Given the description of an element on the screen output the (x, y) to click on. 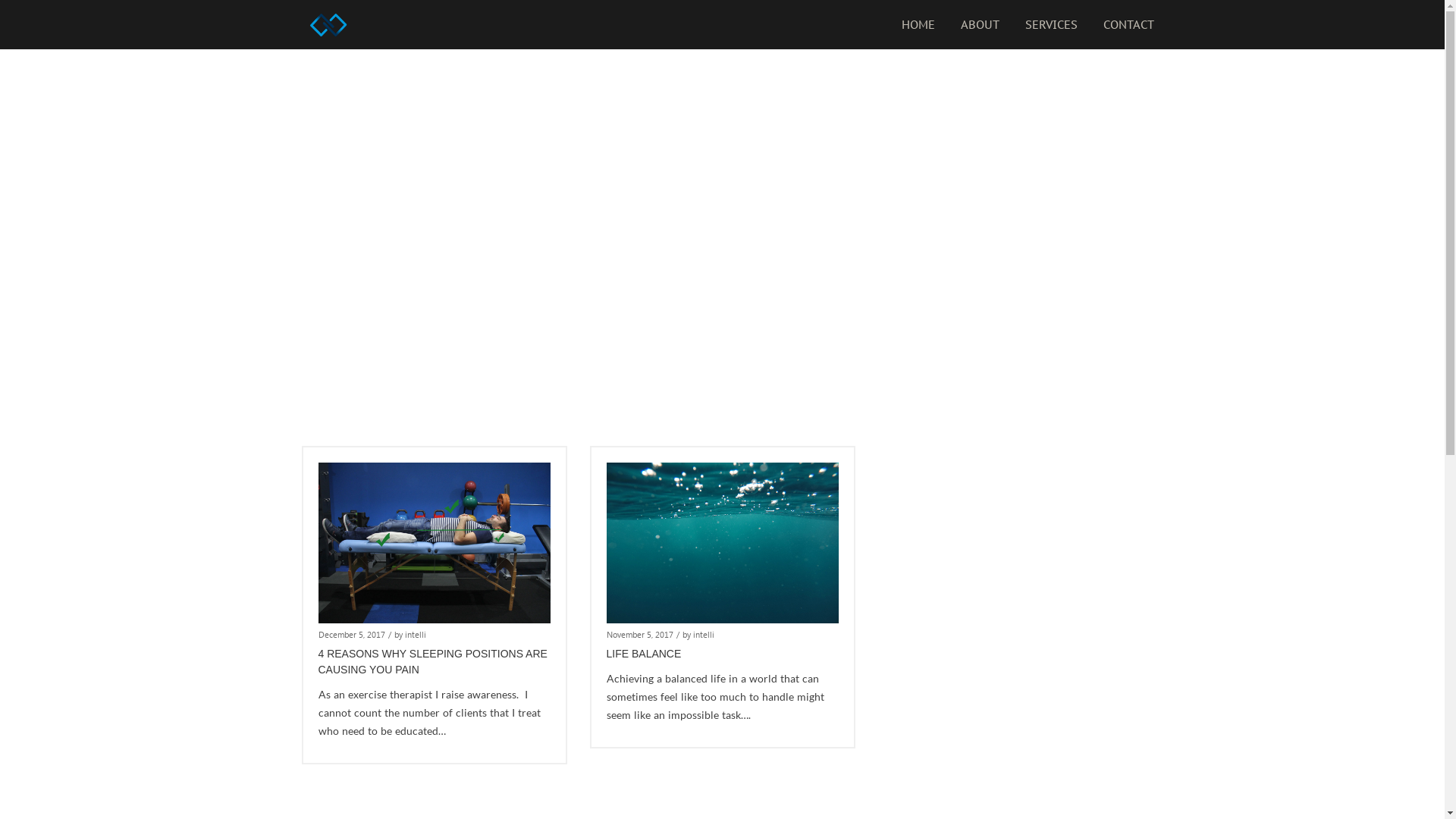
CONTACT Element type: text (1128, 24)
4 REASONS WHY SLEEPING POSITIONS ARE CAUSING YOU PAIN Element type: text (432, 661)
by intelli Element type: text (410, 634)
SERVICES Element type: text (1051, 24)
HOME Element type: text (918, 24)
LIFE BALANCE Element type: text (643, 653)
December 5, 2017 Element type: text (351, 634)
by intelli Element type: text (698, 634)
ABOUT Element type: text (979, 24)
November 5, 2017 Element type: text (639, 634)
